Given the description of an element on the screen output the (x, y) to click on. 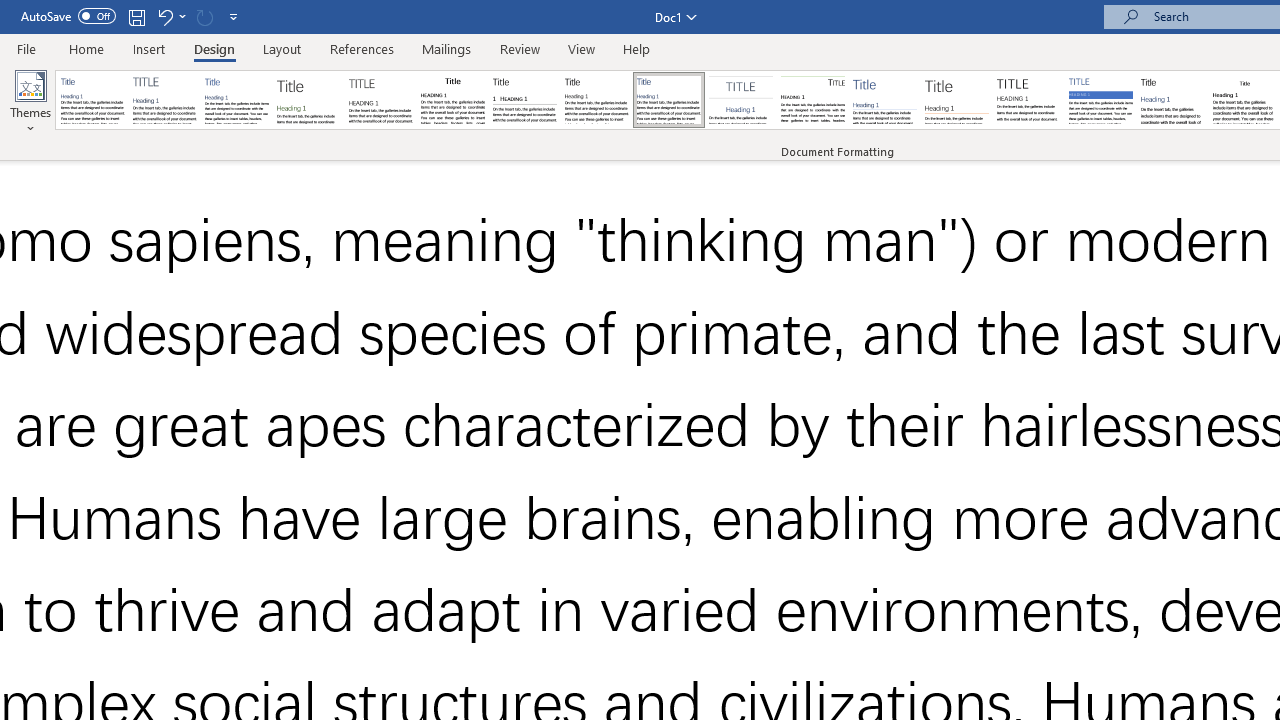
File Tab (26, 48)
Help (637, 48)
Save (136, 15)
Layout (282, 48)
Themes (30, 102)
Undo Outline Move Up (164, 15)
Black & White (Word 2013) (596, 100)
System (10, 11)
Lines (Distinctive) (812, 100)
More Options (182, 15)
Black & White (Numbered) (524, 100)
Shaded (1100, 100)
Insert (149, 48)
Customize Quick Access Toolbar (234, 15)
